Given the description of an element on the screen output the (x, y) to click on. 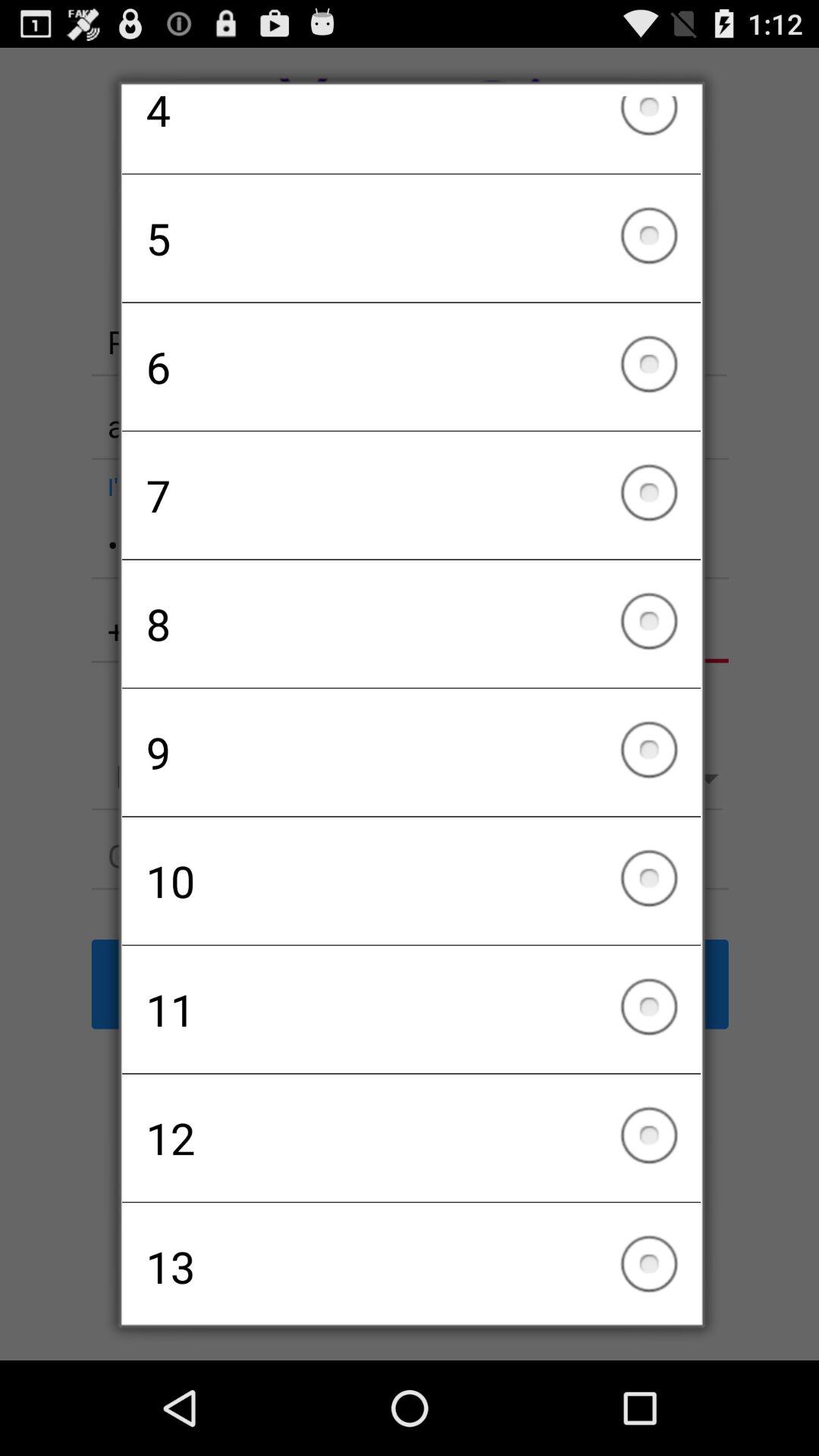
turn off checkbox above the 6 (411, 238)
